Given the description of an element on the screen output the (x, y) to click on. 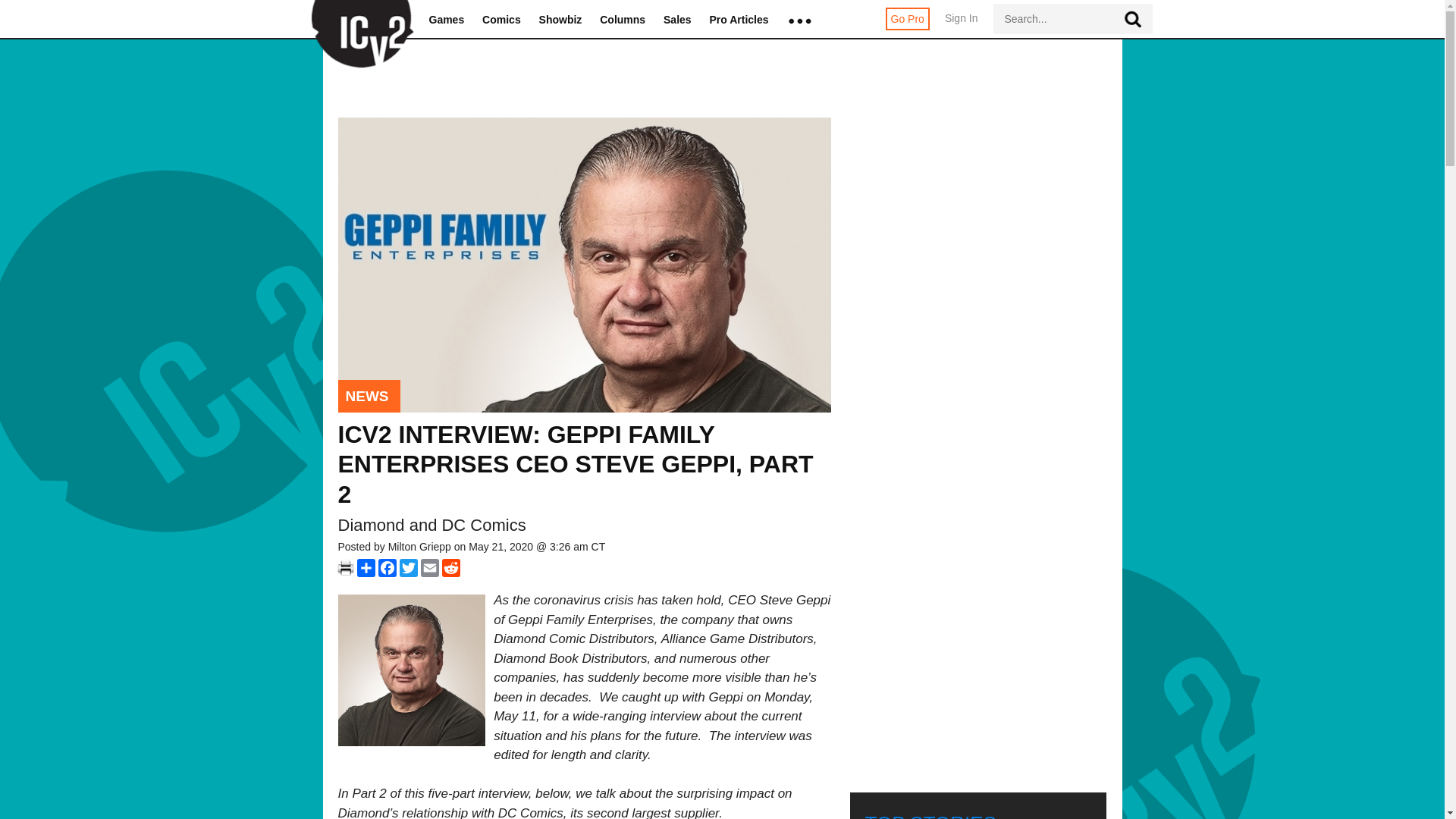
Comics (501, 20)
Sign In (961, 25)
Go Pro (907, 18)
Columns (622, 20)
Twitter (408, 567)
Showbiz (560, 20)
Reddit (450, 567)
Games (446, 20)
ICv2 (357, 19)
Facebook (386, 567)
